Given the description of an element on the screen output the (x, y) to click on. 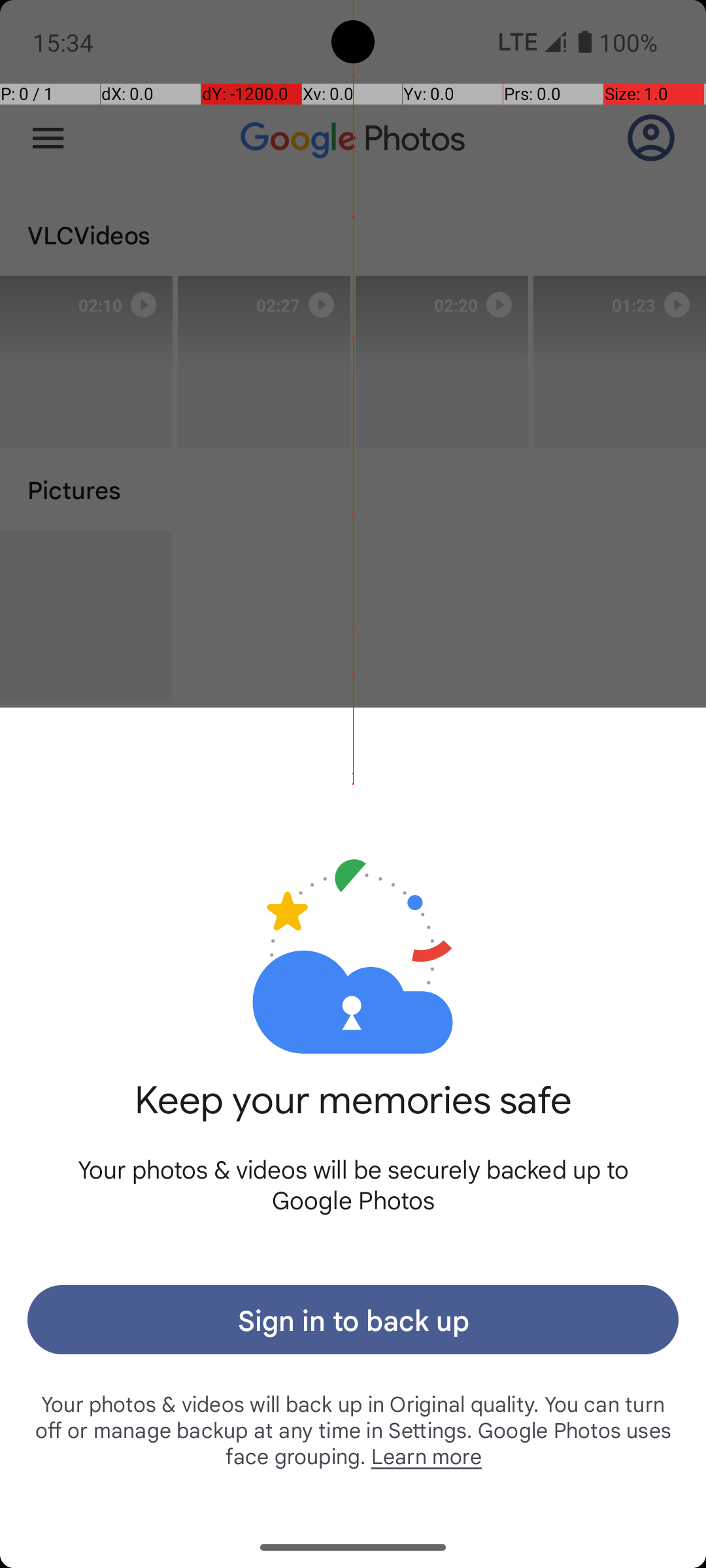
Photos and videos stored in a cloud Element type: android.widget.ImageView (352, 913)
Keep your memories safe Element type: android.widget.TextView (352, 1113)
Your photos & videos will be securely backed up to Google Photos Element type: android.widget.TextView (352, 1183)
Sign in to back up Element type: android.widget.Button (352, 1319)
Your photos & videos will back up in Original quality. You can turn off or manage backup at any time in Settings. Google Photos uses face grouping. Learn more Element type: android.widget.TextView (352, 1429)
